Given the description of an element on the screen output the (x, y) to click on. 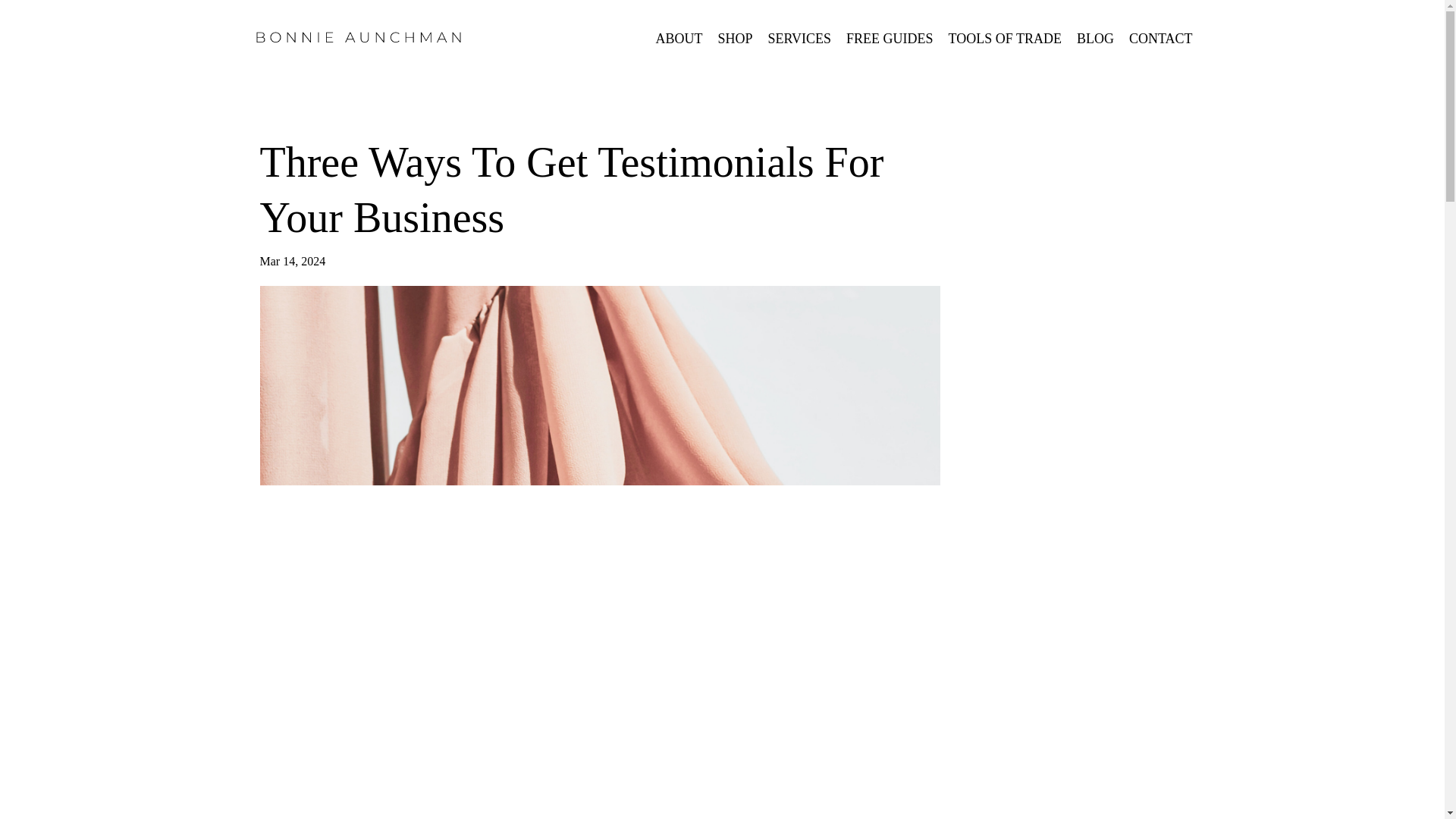
TOOLS OF TRADE (1005, 38)
SHOP (734, 38)
SERVICES (799, 38)
ABOUT (678, 38)
BLOG (1095, 38)
CONTACT (1160, 38)
FREE GUIDES (889, 38)
